Given the description of an element on the screen output the (x, y) to click on. 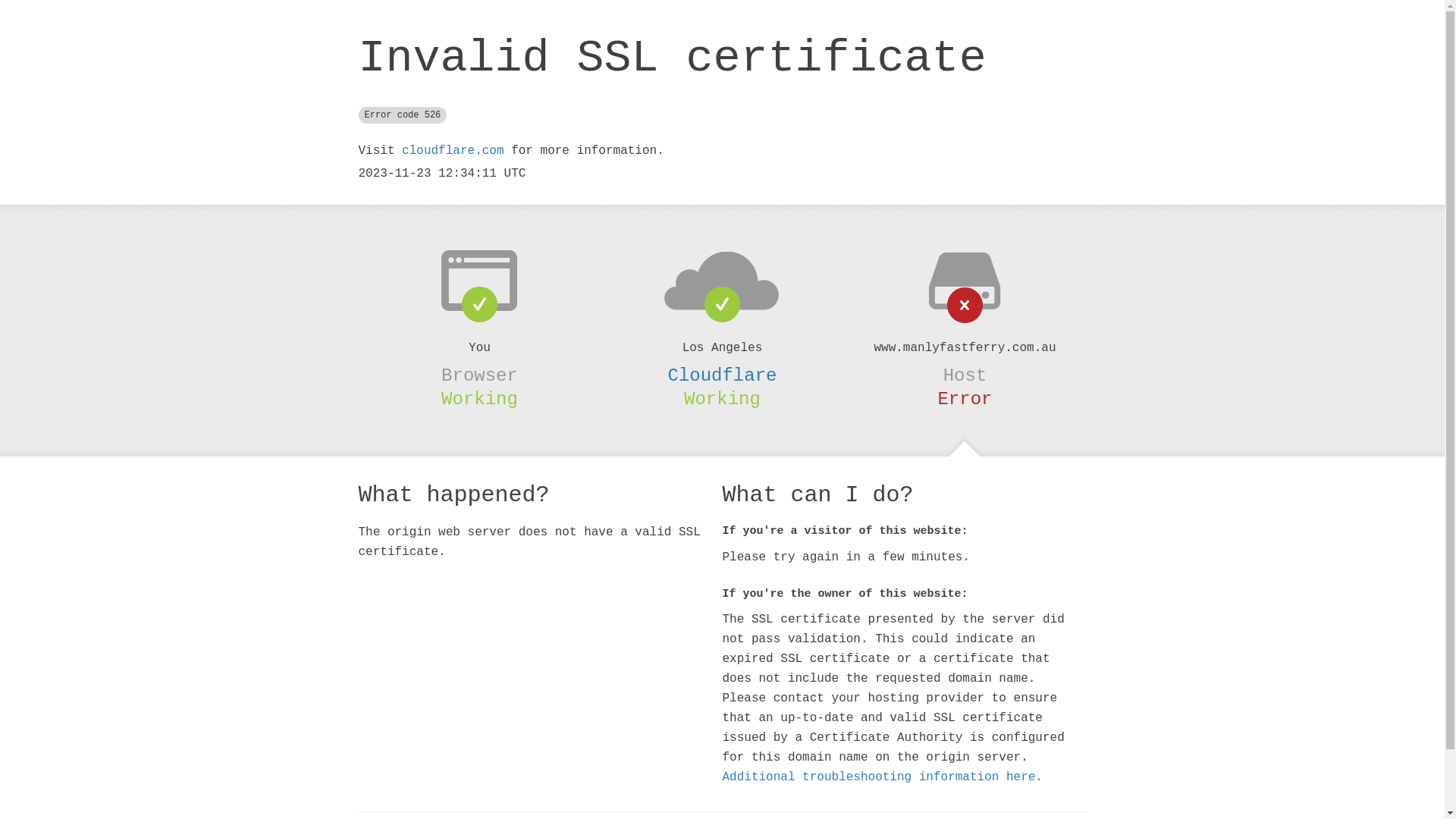
Cloudflare Element type: text (721, 375)
Additional troubleshooting information here. Element type: text (881, 777)
cloudflare.com Element type: text (452, 150)
